Given the description of an element on the screen output the (x, y) to click on. 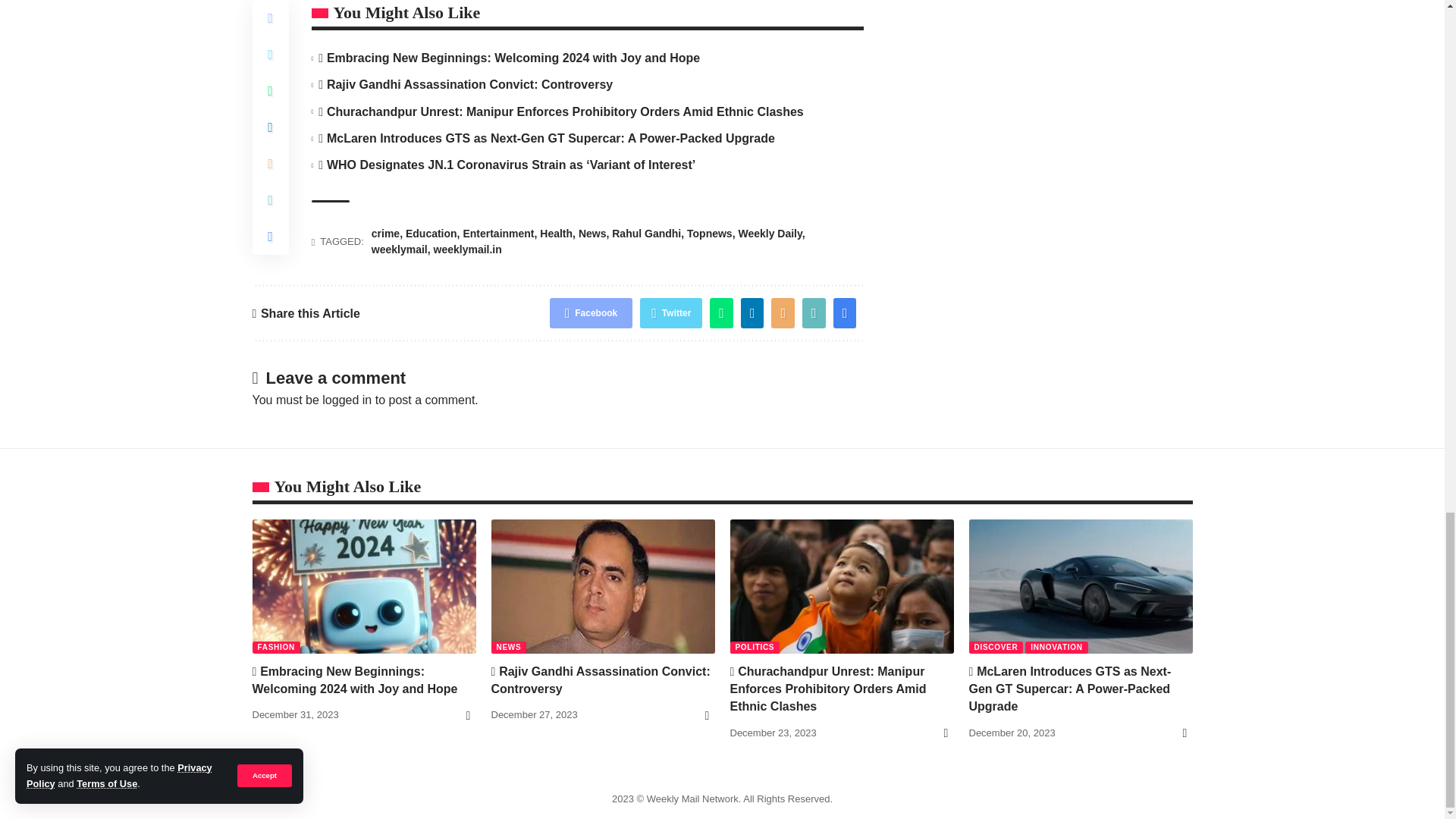
Rajiv Gandhi Assassination Convict: Controversy (603, 586)
Embracing New Beginnings: Welcoming 2024 with Joy and Hope (363, 586)
